Given the description of an element on the screen output the (x, y) to click on. 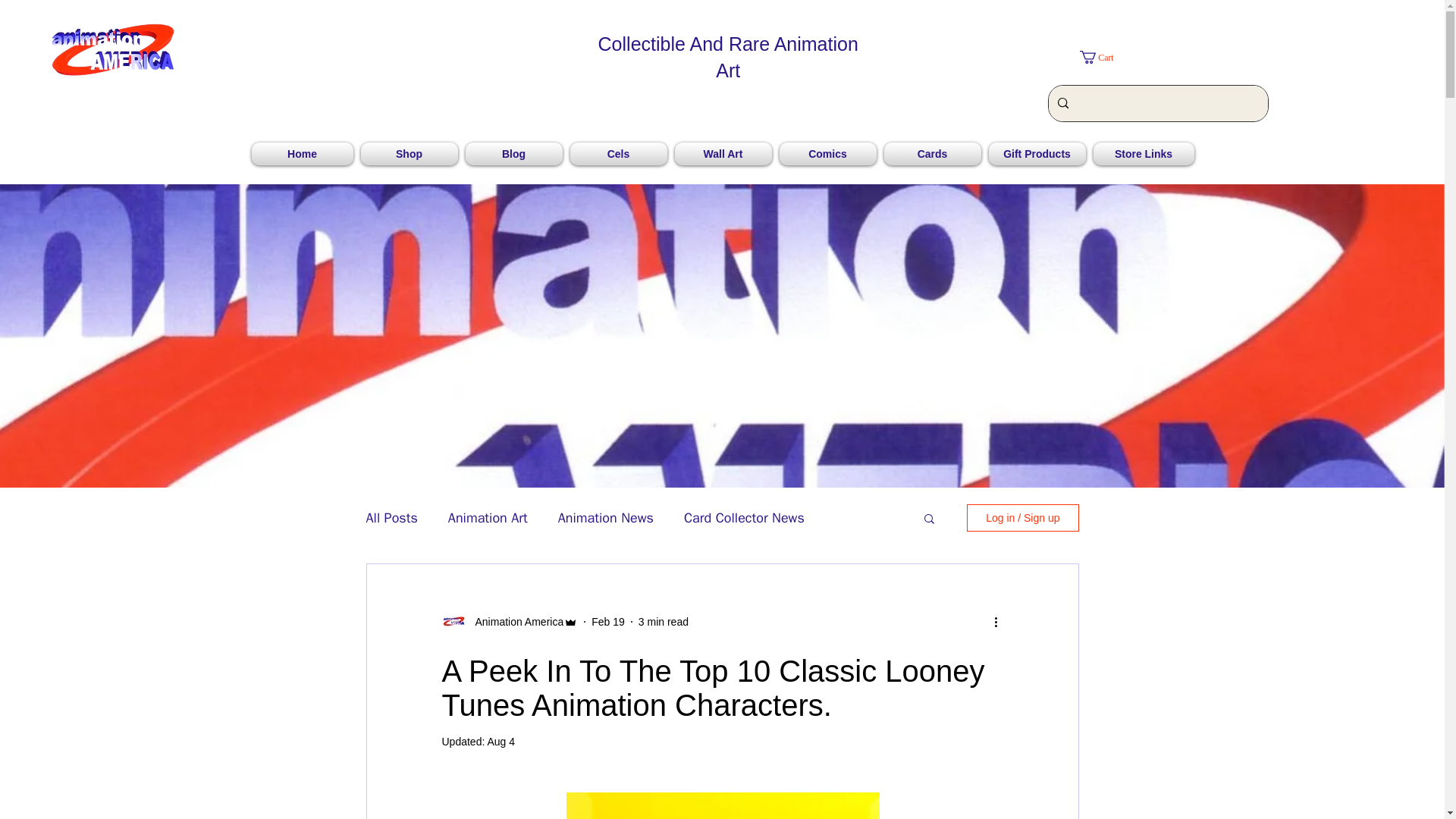
Collectibles and rare art (112, 49)
All Posts (390, 517)
Wall Art (721, 153)
Cart (1104, 56)
Feb 19 (607, 621)
Card Collector News (744, 517)
Shop (408, 153)
Aug 4 (500, 741)
Blog (513, 153)
Animation News (605, 517)
